Given the description of an element on the screen output the (x, y) to click on. 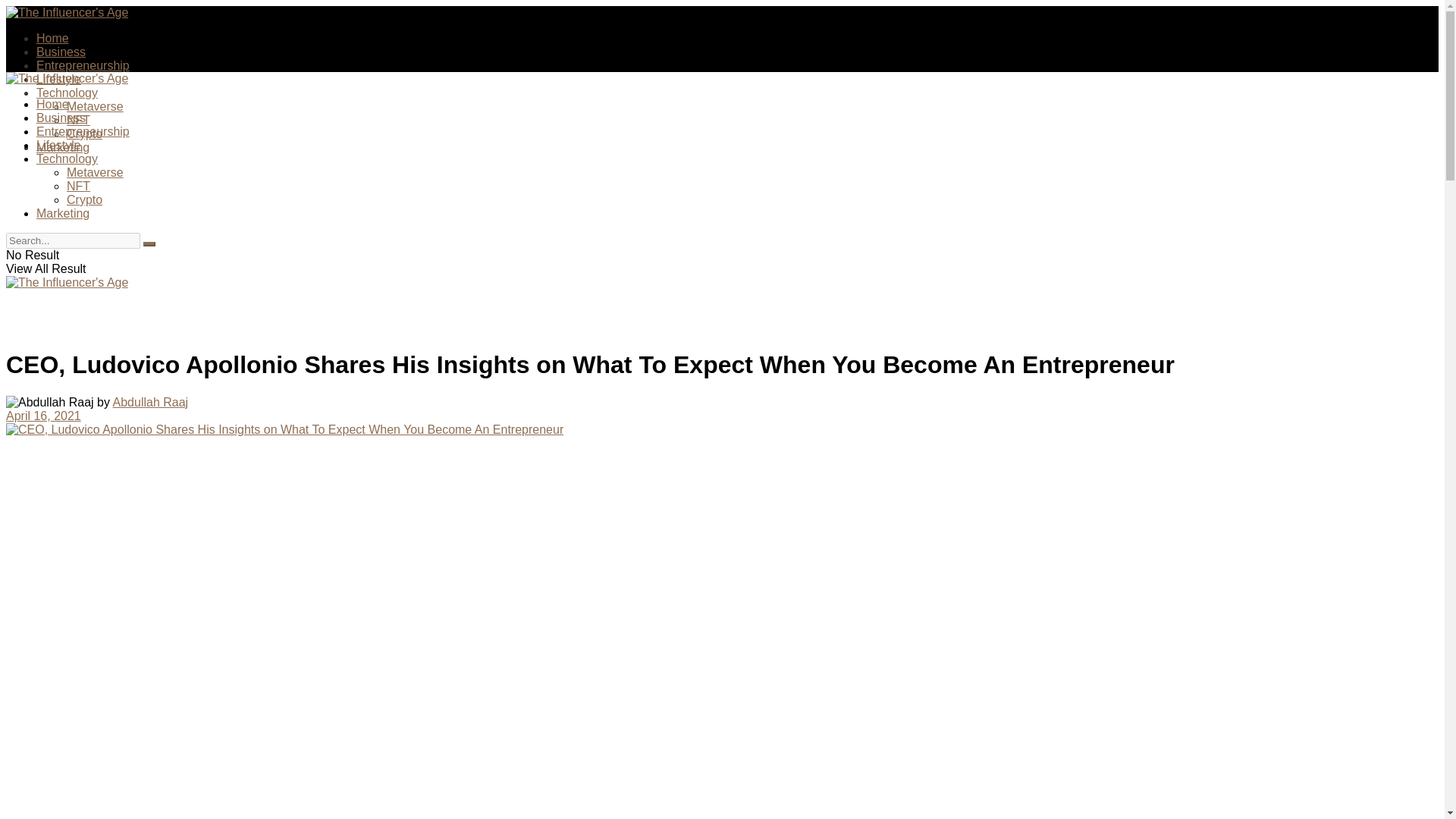
Lifestyle (58, 144)
Lifestyle (58, 78)
Technology (66, 158)
Entrepreneurship (82, 131)
NFT (78, 119)
Entrepreneurship (82, 65)
Home (52, 38)
Abdullah Raaj (151, 401)
Marketing (62, 213)
Crypto (83, 133)
Business (60, 117)
Metaverse (94, 172)
April 16, 2021 (43, 415)
Technology (66, 92)
NFT (78, 185)
